Given the description of an element on the screen output the (x, y) to click on. 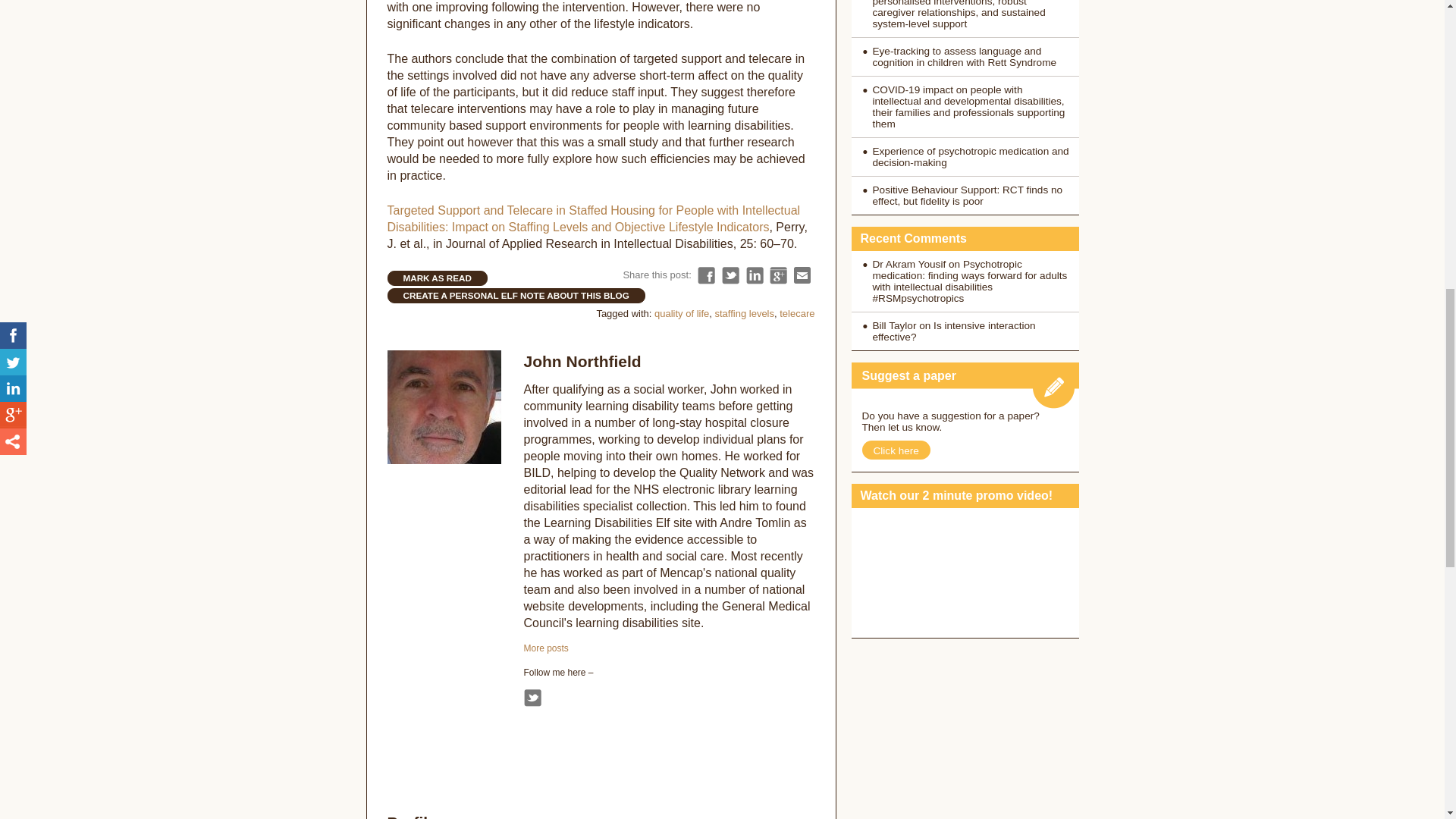
John Northfield (581, 361)
Share on LinkedIn (753, 275)
Share via email (801, 275)
Twitter (531, 697)
Tweet this on Twitter (730, 275)
John Northfield (544, 647)
Share on Facebook (705, 275)
